Given the description of an element on the screen output the (x, y) to click on. 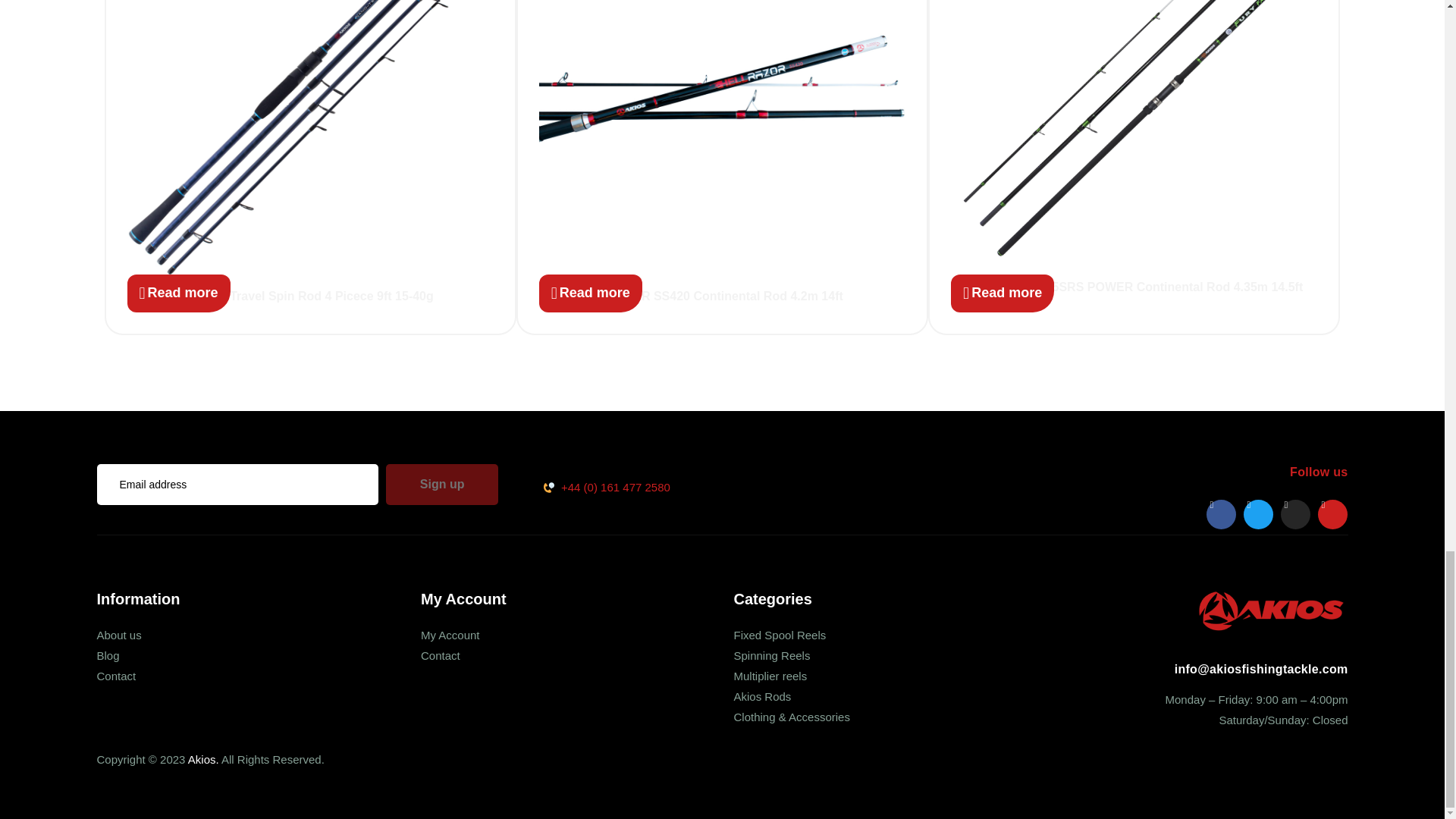
Sign up (442, 484)
